Given the description of an element on the screen output the (x, y) to click on. 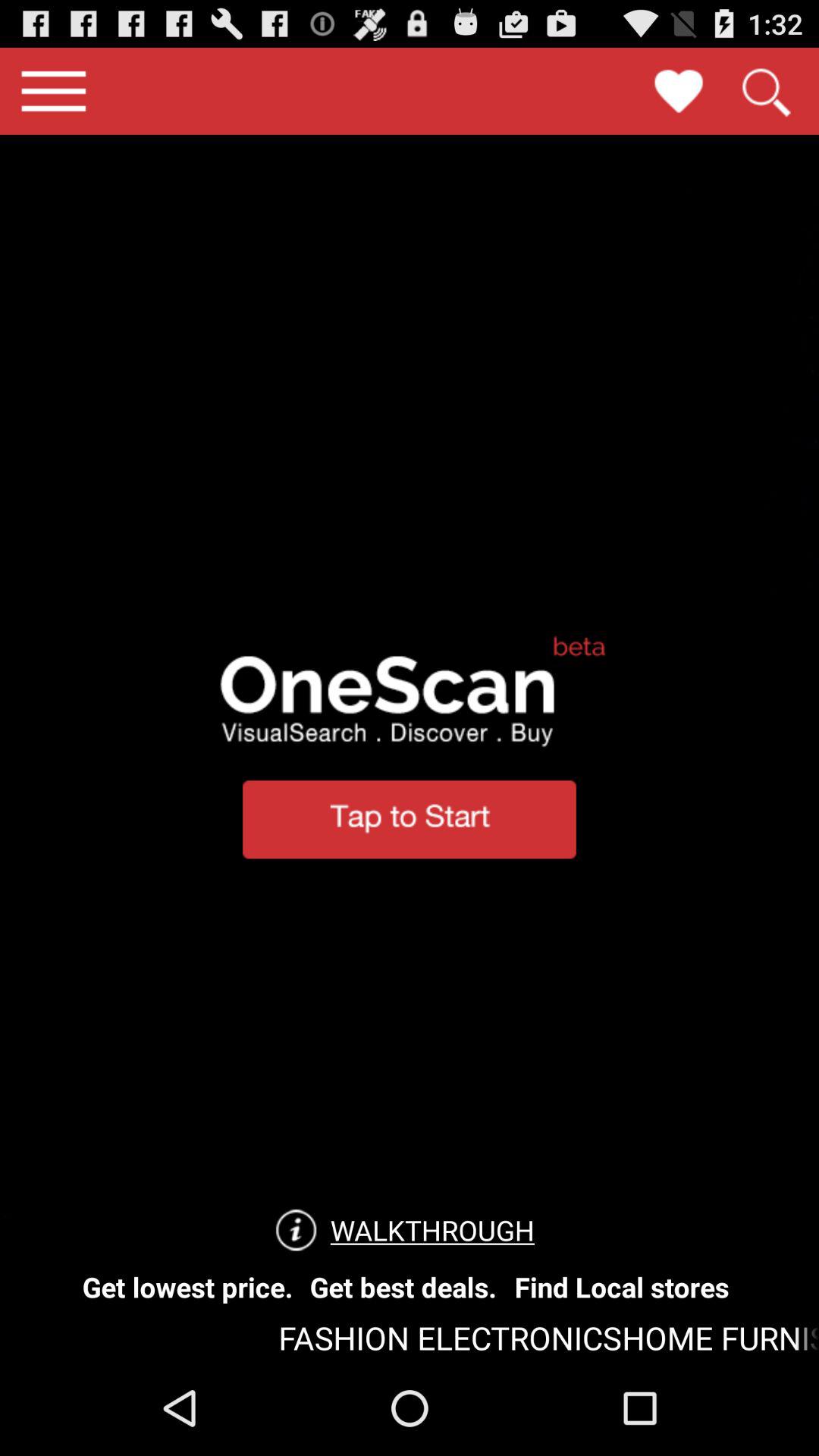
turn off item at the top left corner (53, 91)
